Given the description of an element on the screen output the (x, y) to click on. 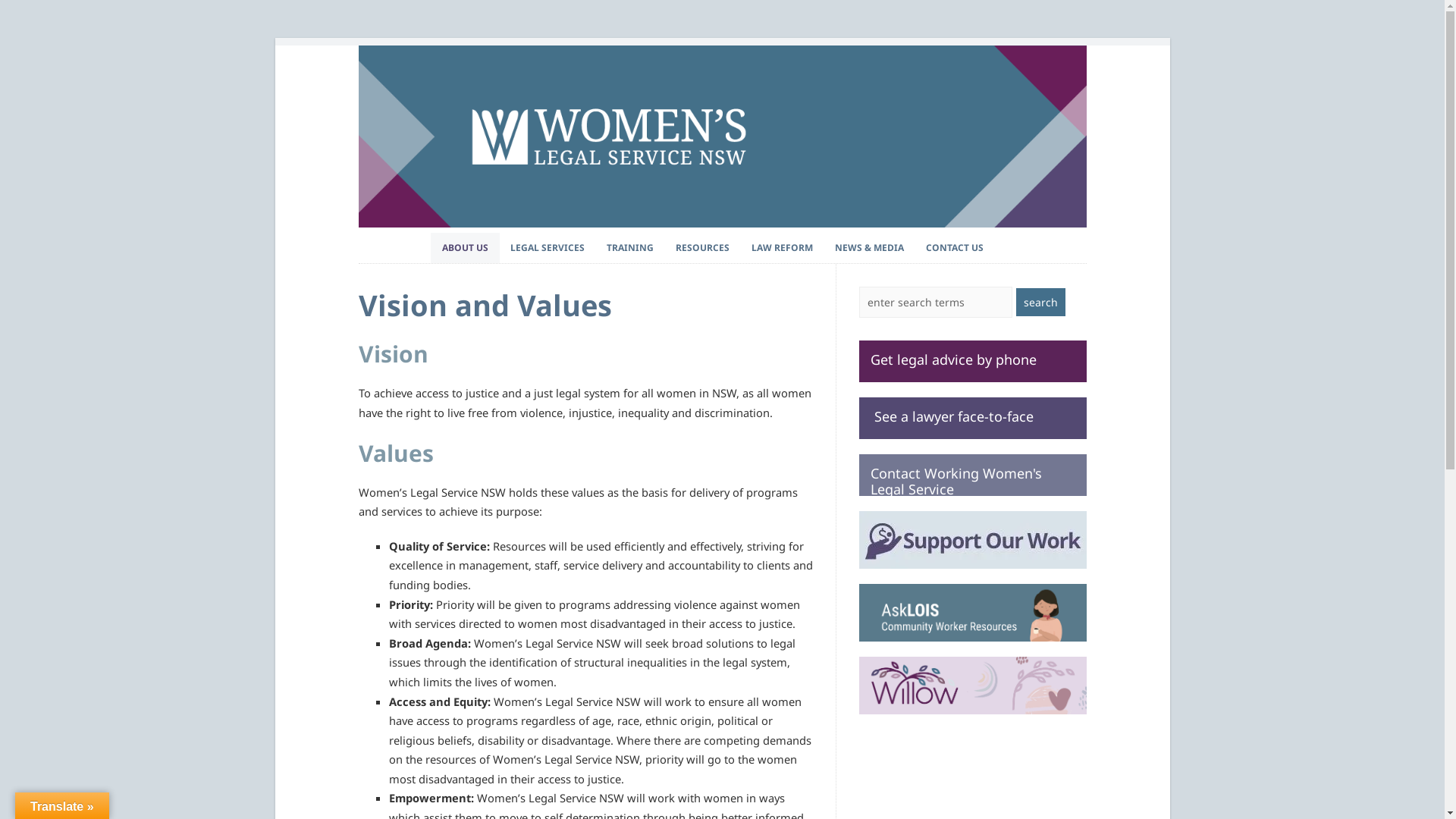
Get legal advice by phone Element type: text (971, 361)
CONTACT US Element type: text (954, 247)
Home Element type: hover (419, 240)
ABOUT US Element type: text (464, 247)
Follow us on Twitter Element type: hover (1005, 240)
Visit the AskLOIS website Element type: hover (971, 612)
LAW REFORM Element type: text (782, 247)
Women's Legal Service NSW Element type: hover (721, 222)
NEWS & MEDIA Element type: text (869, 247)
Connect on Facebook Element type: hover (1027, 240)
Willow - Women's legal advice on the go Element type: hover (971, 685)
LEGAL SERVICES Element type: text (547, 247)
Contact Working Women's Legal Service Element type: text (971, 474)
TRAINING Element type: text (630, 247)
RESOURCES Element type: text (702, 247)
 See a lawyer face-to-face Element type: text (971, 418)
Support Us Element type: hover (971, 539)
search Element type: text (1040, 302)
